Given the description of an element on the screen output the (x, y) to click on. 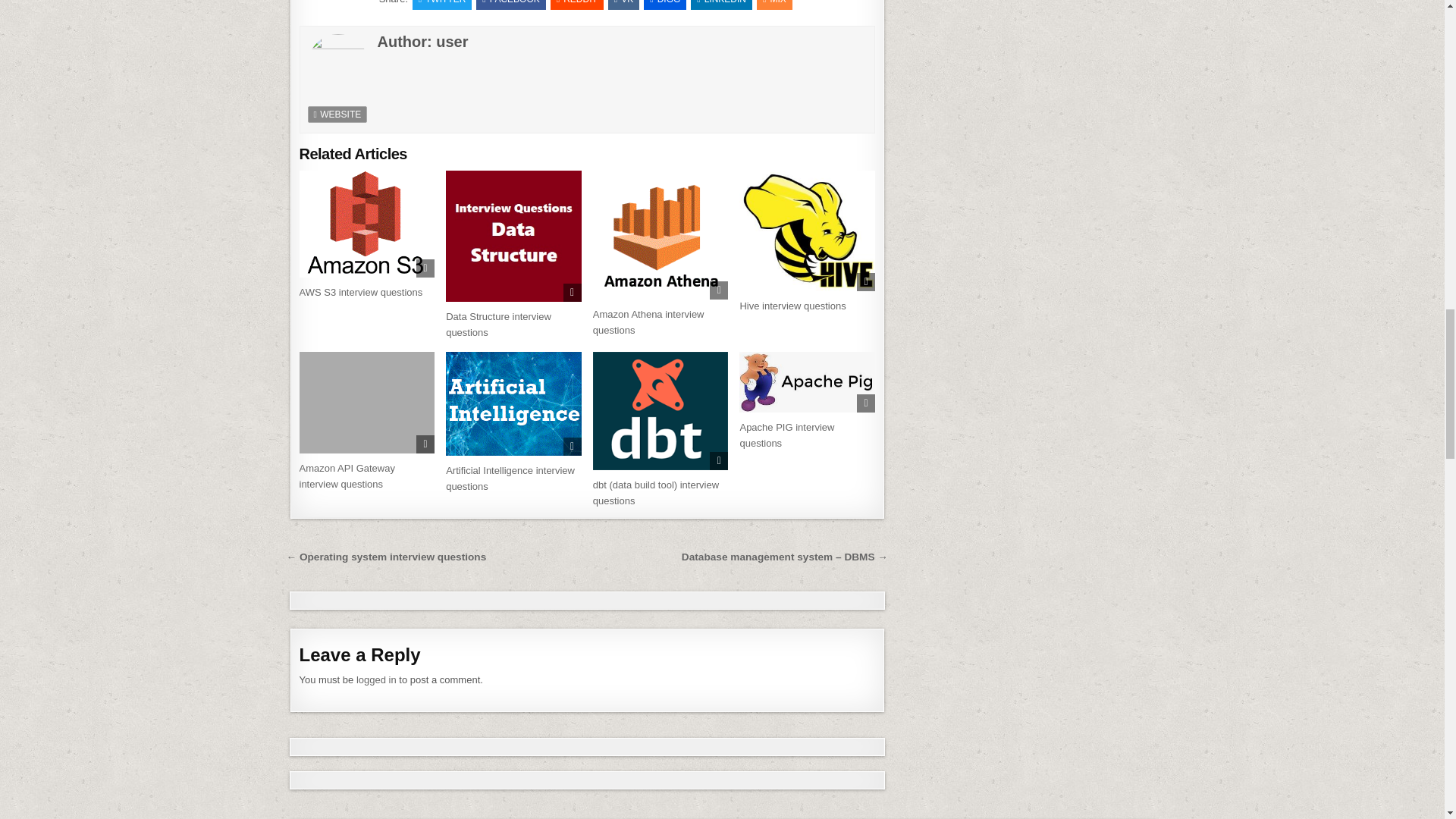
MIX (774, 4)
Share this on Reddit (577, 4)
TWITTER (441, 4)
REDDIT (577, 4)
FACEBOOK (510, 4)
user (451, 41)
LINKEDIN (721, 4)
Share this on Mix (774, 4)
DIGG (664, 4)
Share this on Digg (664, 4)
